Given the description of an element on the screen output the (x, y) to click on. 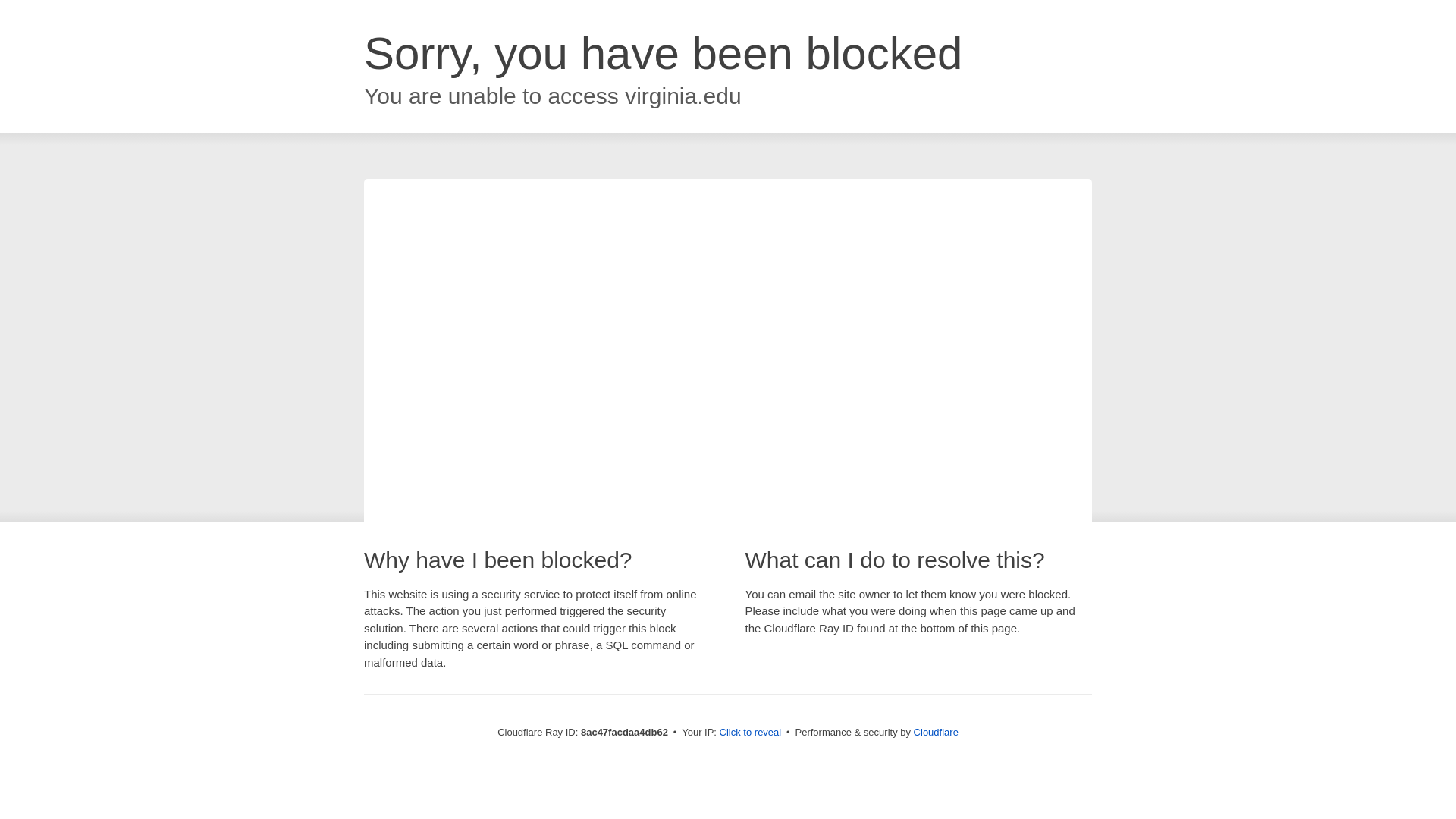
Cloudflare (936, 731)
Click to reveal (751, 732)
